Given the description of an element on the screen output the (x, y) to click on. 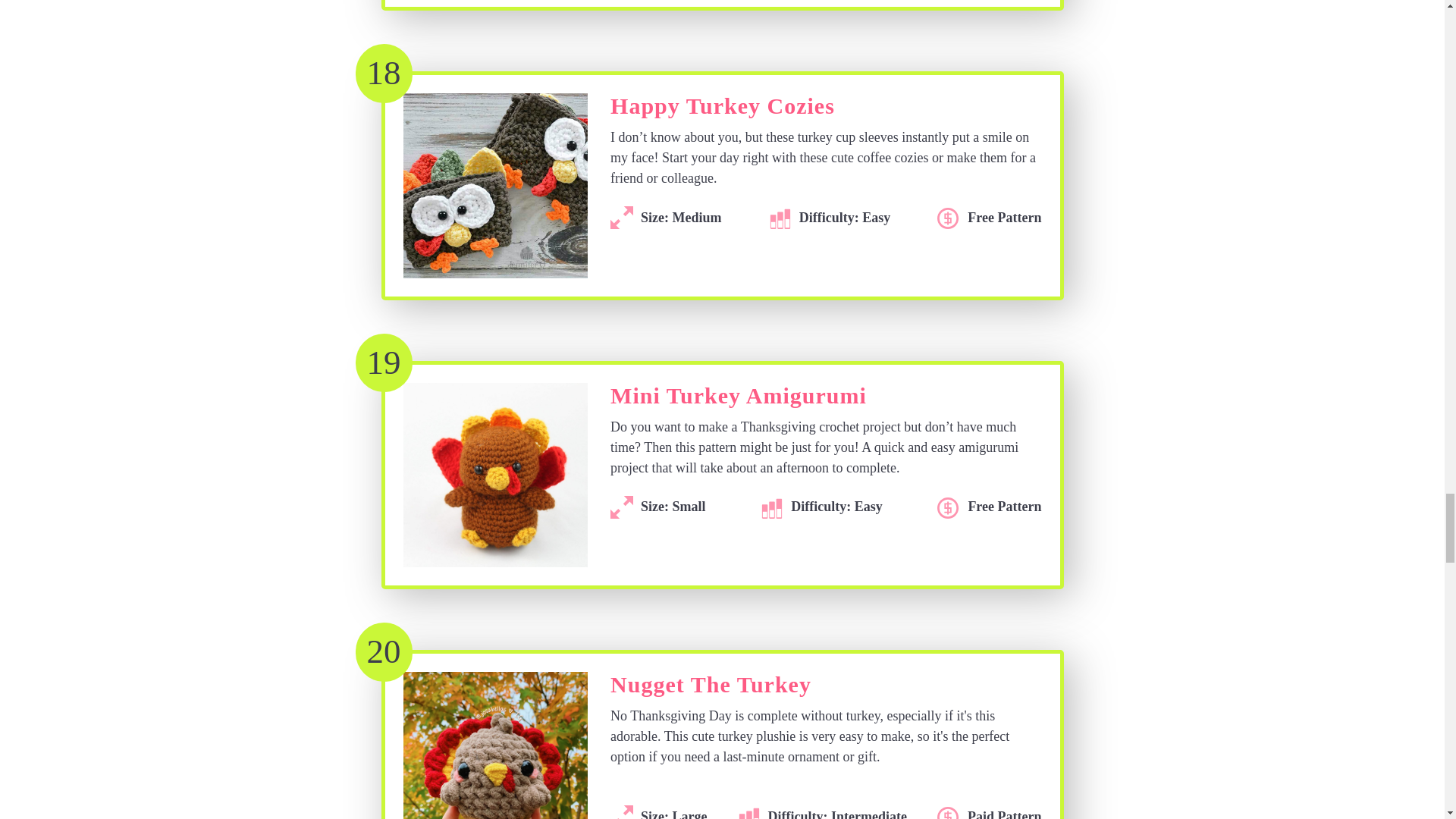
Happy Turkey Cozies (722, 110)
Mini Turkey Amigurumi (738, 399)
Nugget The Turkey (710, 688)
